Given the description of an element on the screen output the (x, y) to click on. 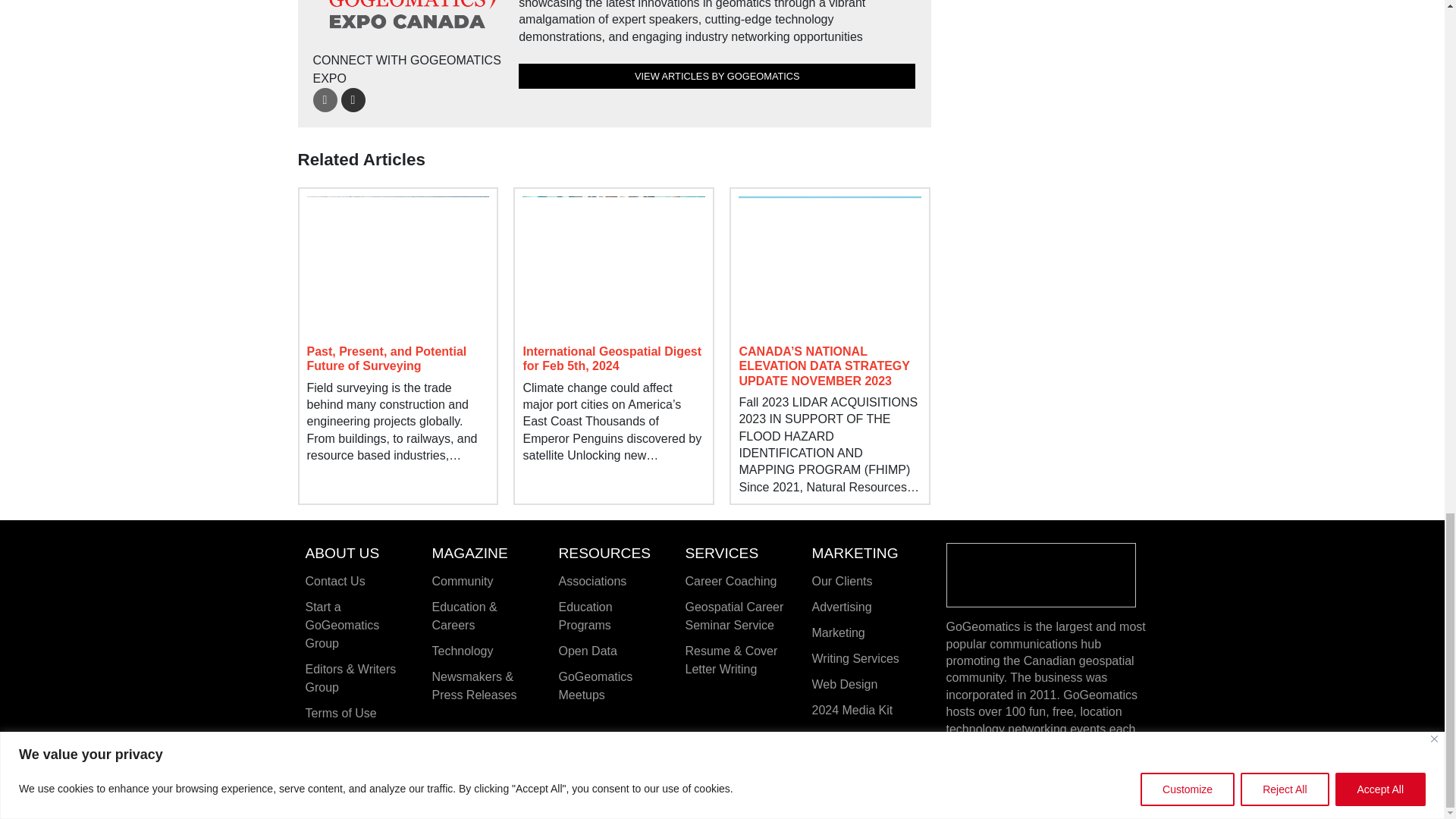
GoGeomatics (1040, 574)
